Given the description of an element on the screen output the (x, y) to click on. 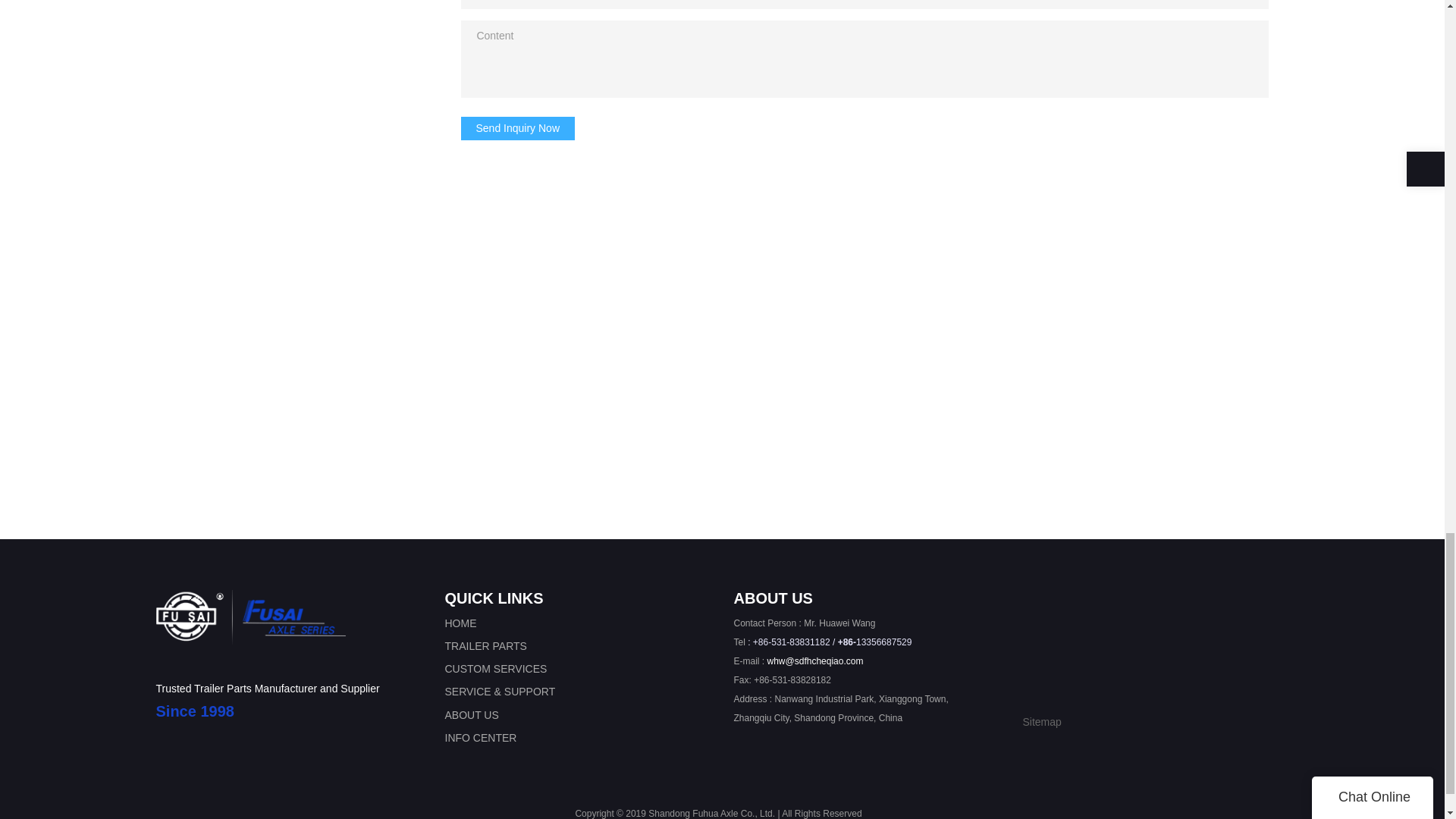
Send Inquiry Now (518, 128)
